Given the description of an element on the screen output the (x, y) to click on. 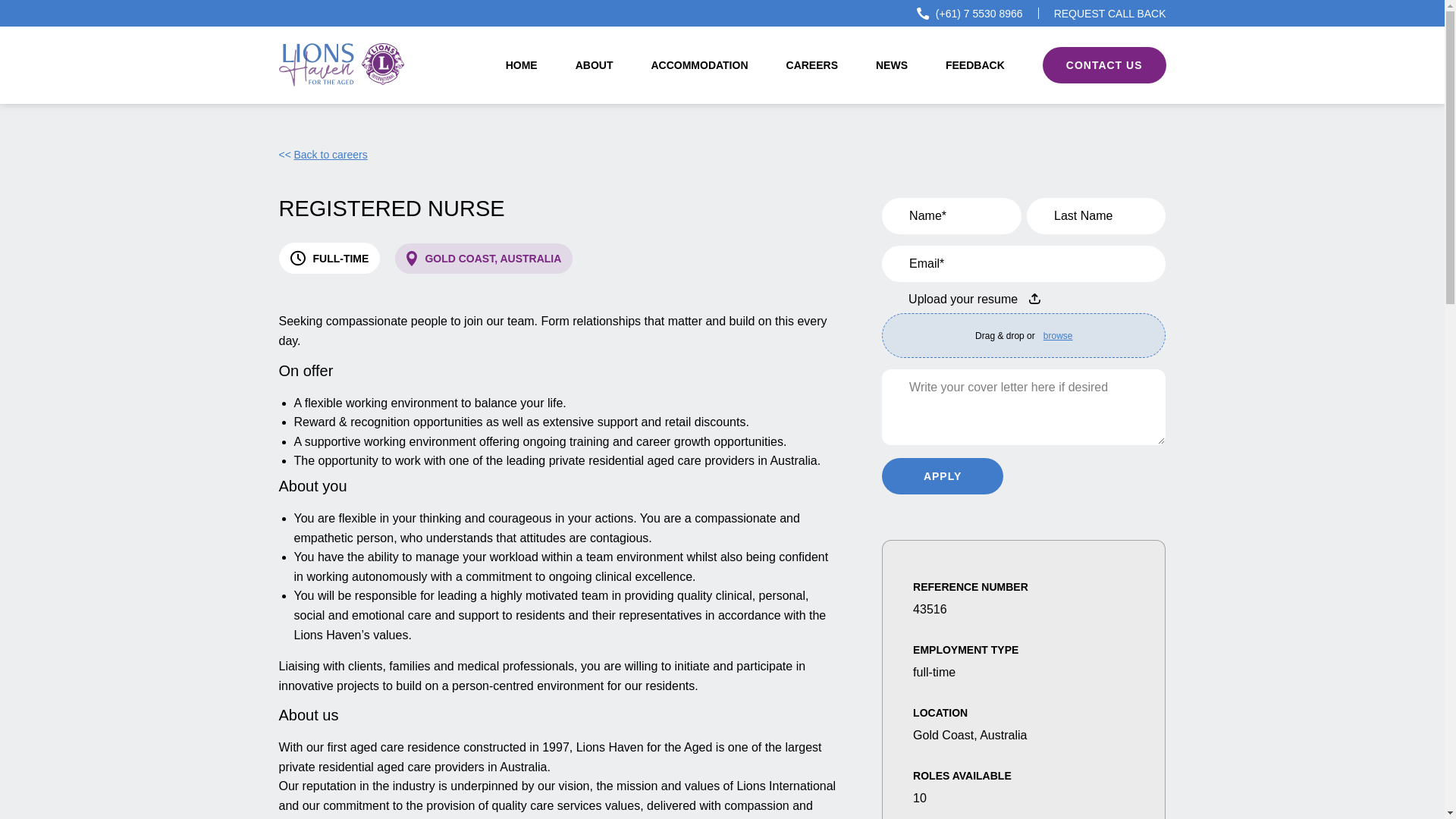
APPLY (942, 475)
Back to careers (323, 154)
CONTACT US (1104, 64)
FEEDBACK (974, 65)
ACCOMMODATION (699, 65)
APPLY (942, 475)
SEND (1090, 140)
